Given the description of an element on the screen output the (x, y) to click on. 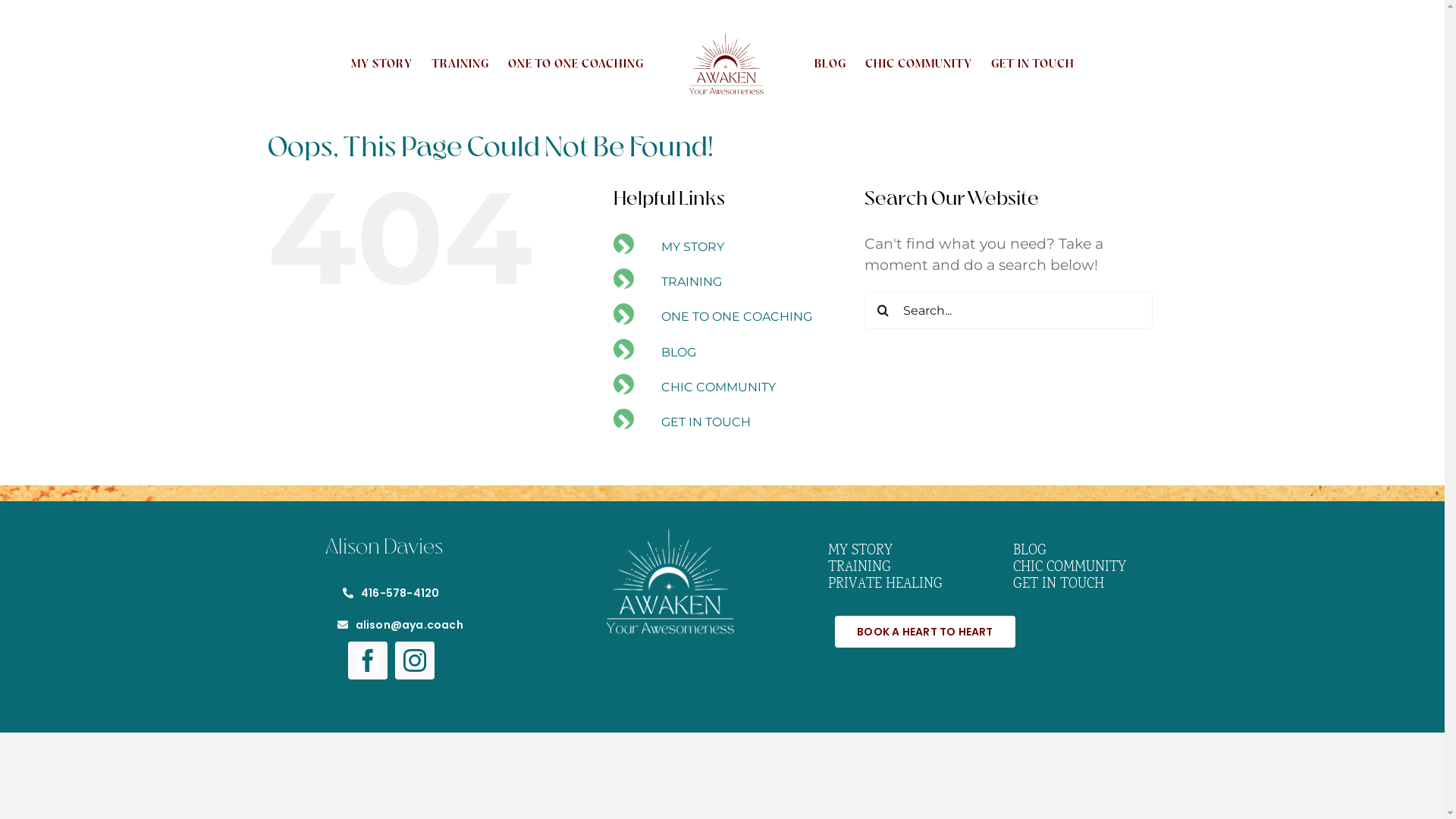
CHIC COMMUNITY Element type: text (1095, 567)
BLOG Element type: text (678, 352)
ONE TO ONE COACHING Element type: text (575, 62)
GET IN TOUCH Element type: text (1032, 62)
ONE TO ONE COACHING Element type: text (736, 316)
BOOK A HEART TO HEART Element type: text (924, 631)
BLOG Element type: text (1095, 550)
GET IN TOUCH Element type: text (1095, 584)
MY STORY Element type: text (917, 550)
alison@aya.coach Element type: text (400, 624)
TRAINING Element type: text (691, 281)
GET IN TOUCH Element type: text (705, 421)
MY STORY Element type: text (692, 246)
MY STORY Element type: text (381, 62)
CHIC COMMUNITY Element type: text (718, 386)
416-578-4120 Element type: text (390, 593)
CHIC COMMUNITY Element type: text (918, 62)
TRAINING Element type: text (917, 567)
PRIVATE HEALING Element type: text (917, 584)
TRAINING Element type: text (460, 62)
BLOG Element type: text (830, 62)
